Given the description of an element on the screen output the (x, y) to click on. 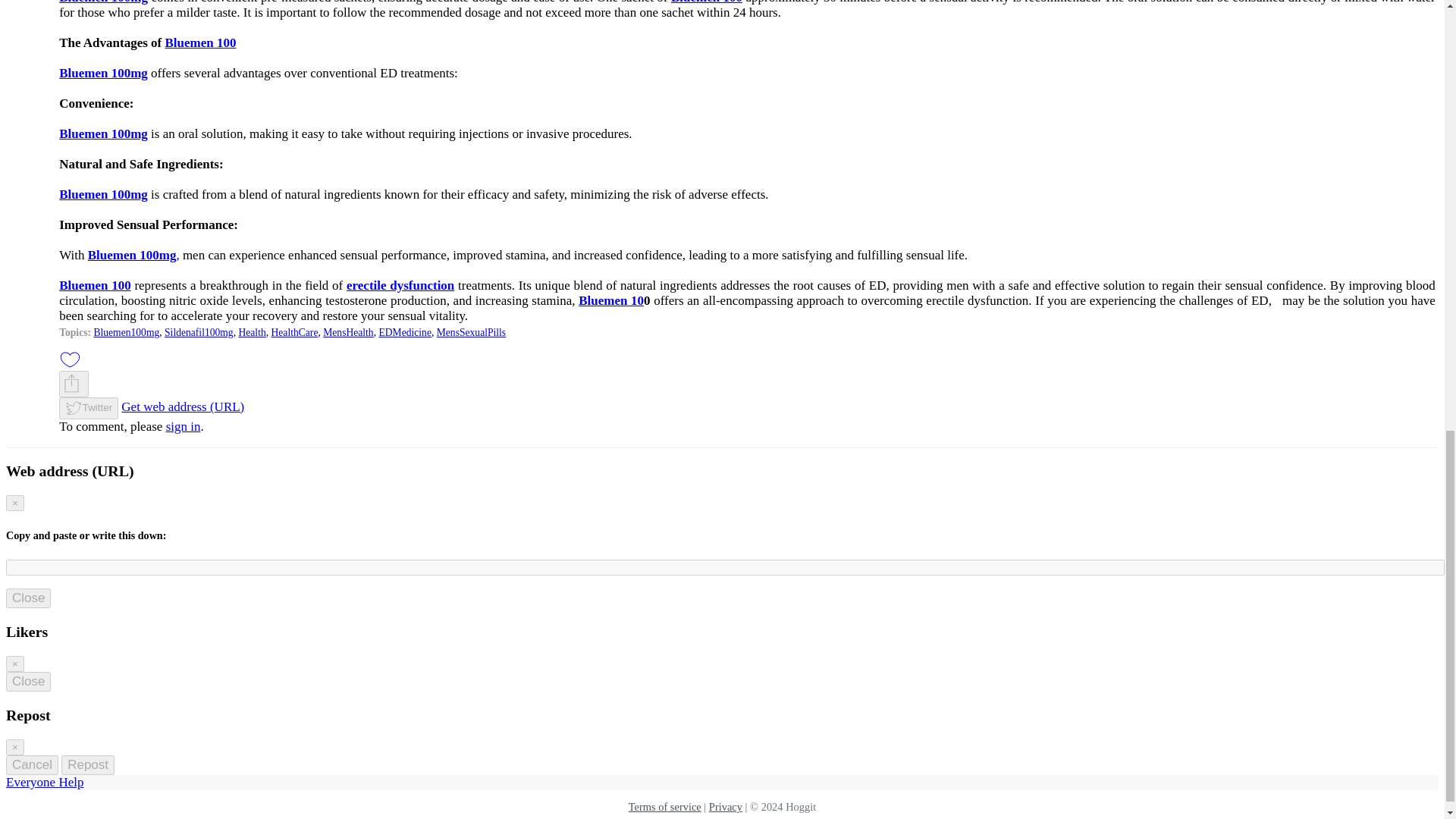
Share (71, 383)
Bluemen 100 (706, 2)
Bluemen 100mg (103, 133)
Bluemen 100 (200, 42)
Like (70, 359)
Bluemen 100mg (103, 2)
Bluemen 100mg (103, 194)
Bluemen 100mg (103, 73)
